Given the description of an element on the screen output the (x, y) to click on. 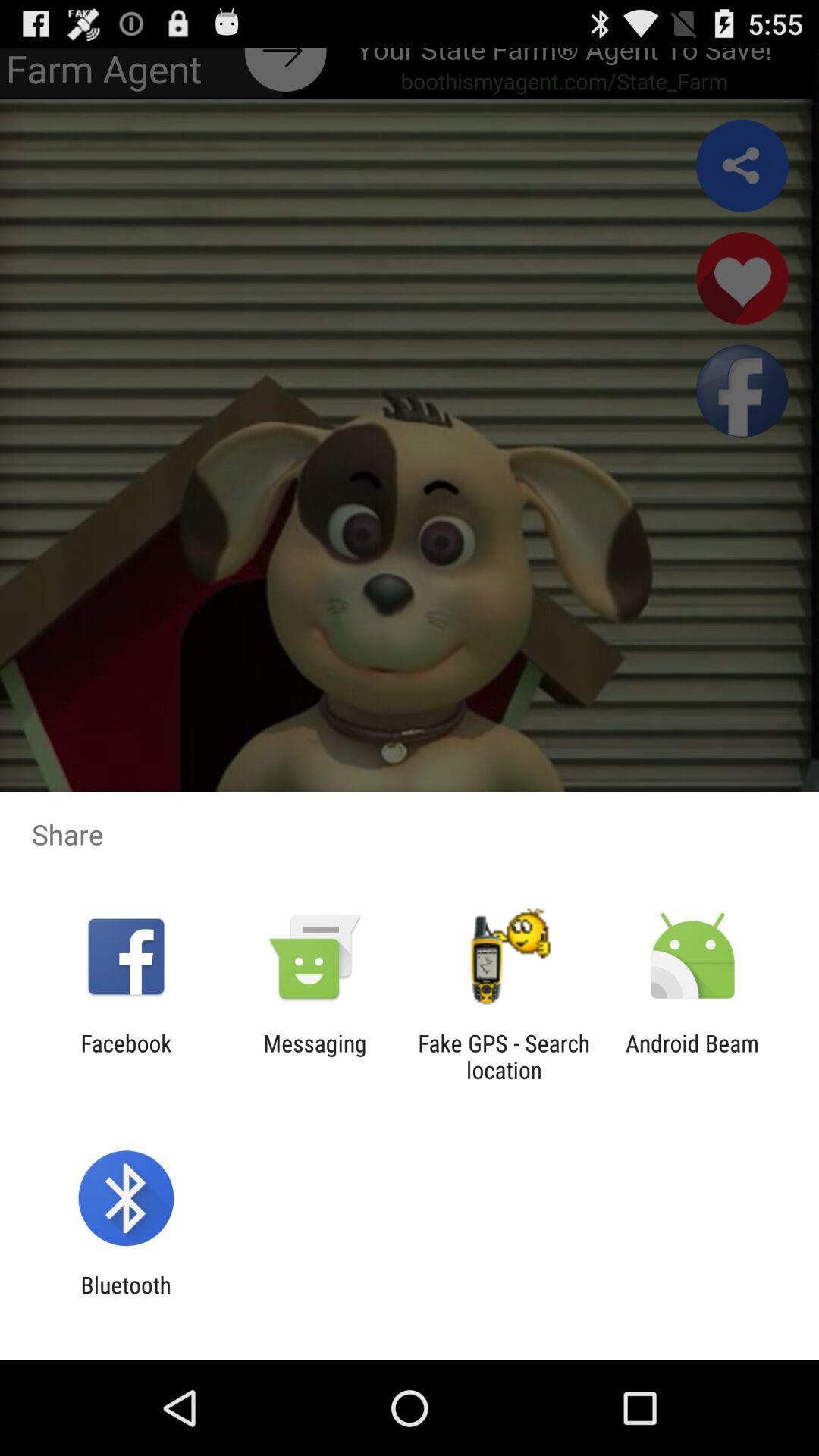
launch icon next to the fake gps search icon (314, 1056)
